Given the description of an element on the screen output the (x, y) to click on. 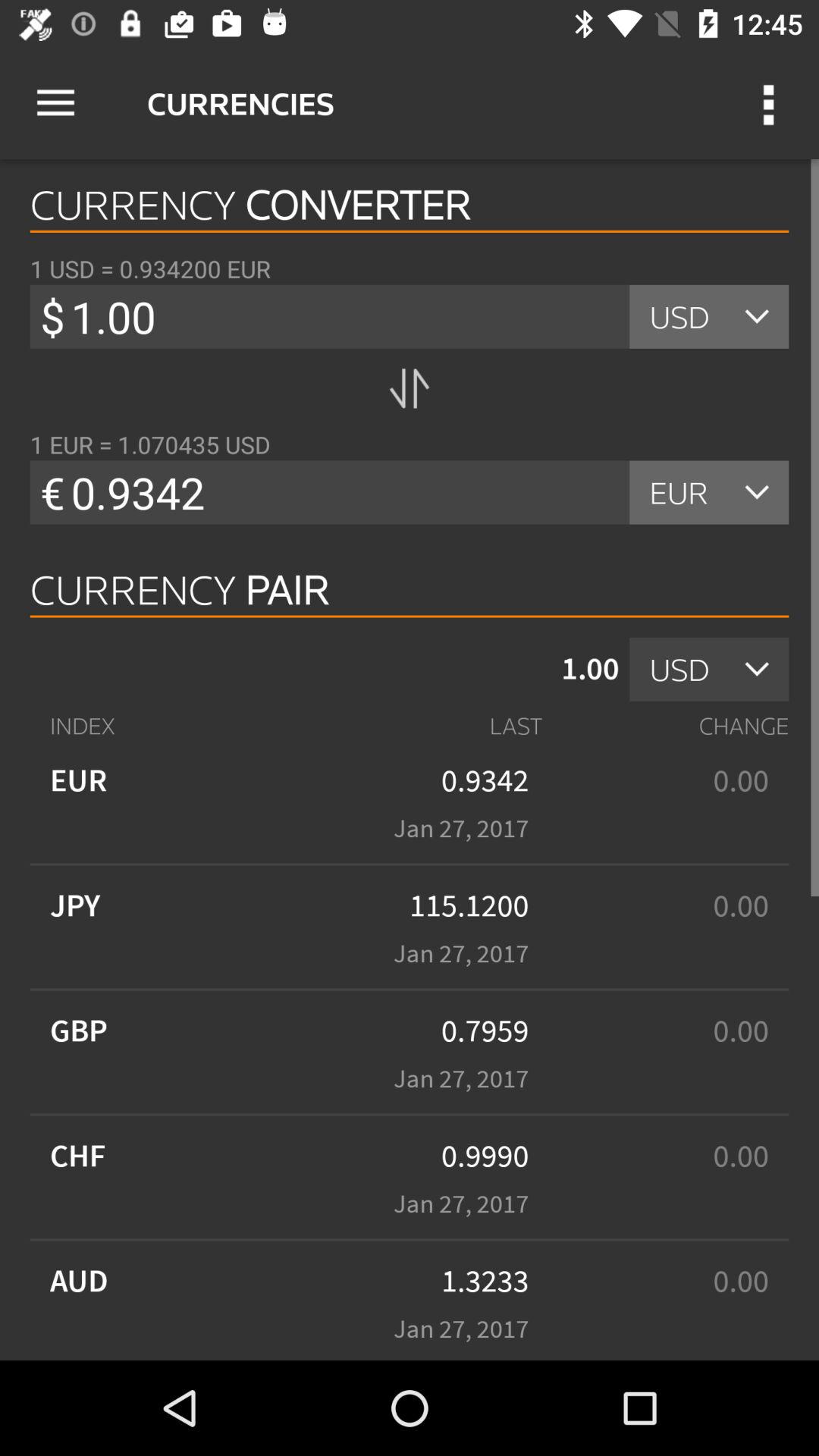
select the item to the right of the currencies icon (771, 103)
